Given the description of an element on the screen output the (x, y) to click on. 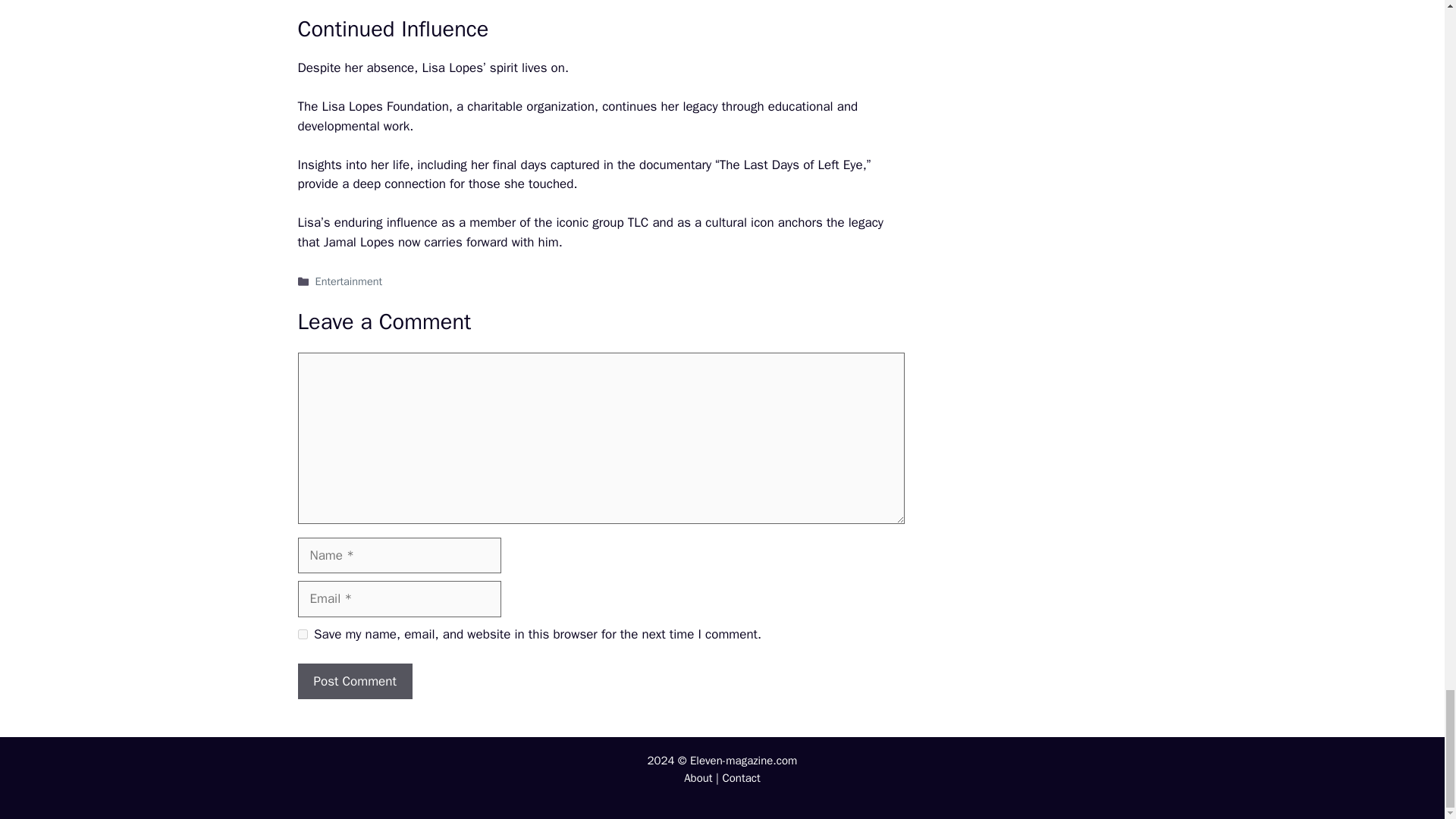
About (697, 777)
Entertainment (348, 281)
Post Comment (354, 681)
yes (302, 634)
Post Comment (354, 681)
Contact (741, 777)
